Given the description of an element on the screen output the (x, y) to click on. 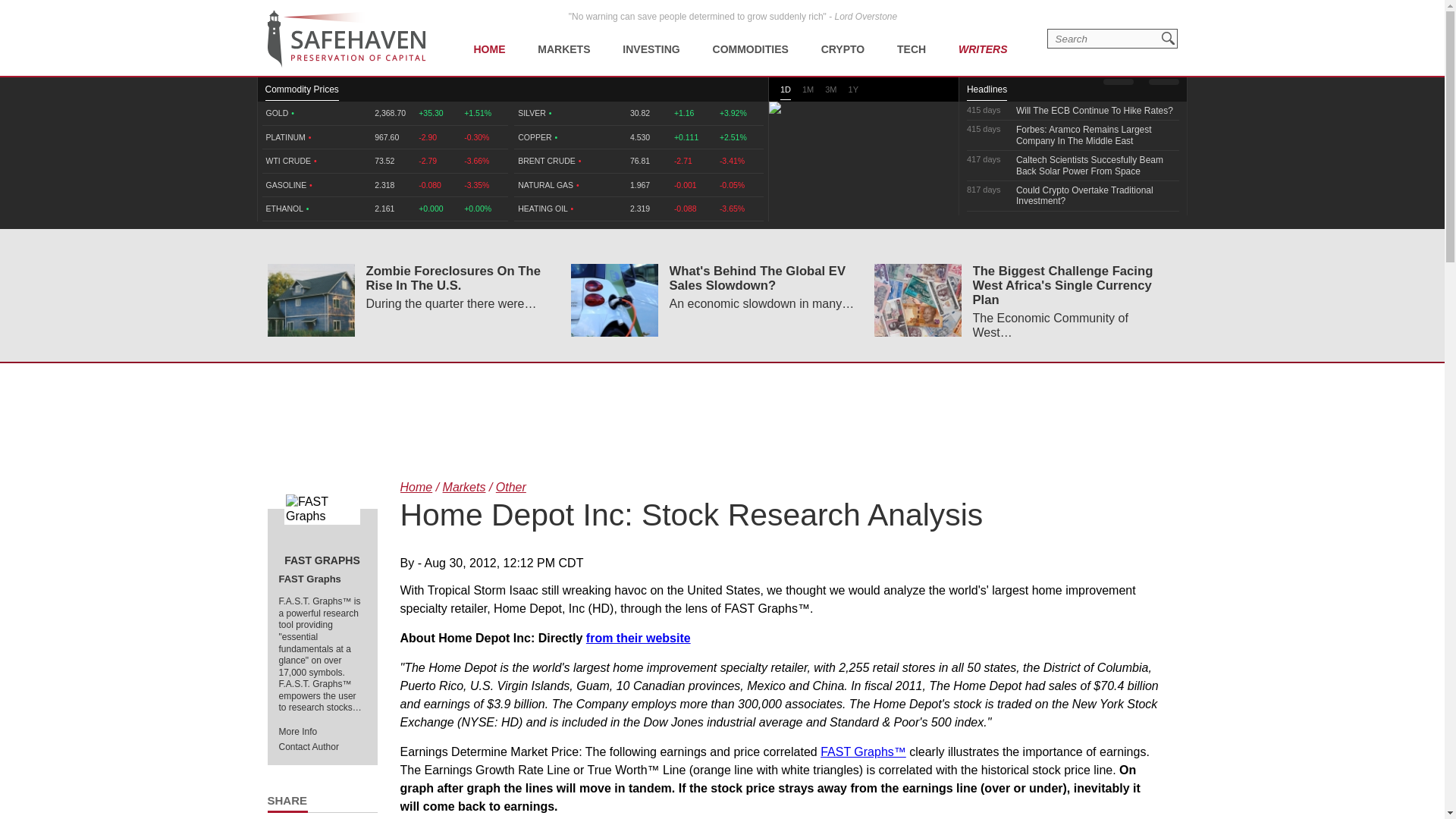
1M (807, 92)
WRITERS (982, 38)
HOME (489, 38)
1Y (853, 92)
1D (785, 92)
3M (830, 92)
COMMODITIES (750, 38)
INVESTING (650, 38)
CRYPTO (842, 38)
Headlines (986, 92)
TECH (911, 38)
Oil prices - Oilprice.com (345, 38)
FAST Graphs (321, 508)
MARKETS (563, 38)
Commodity Prices (301, 92)
